Given the description of an element on the screen output the (x, y) to click on. 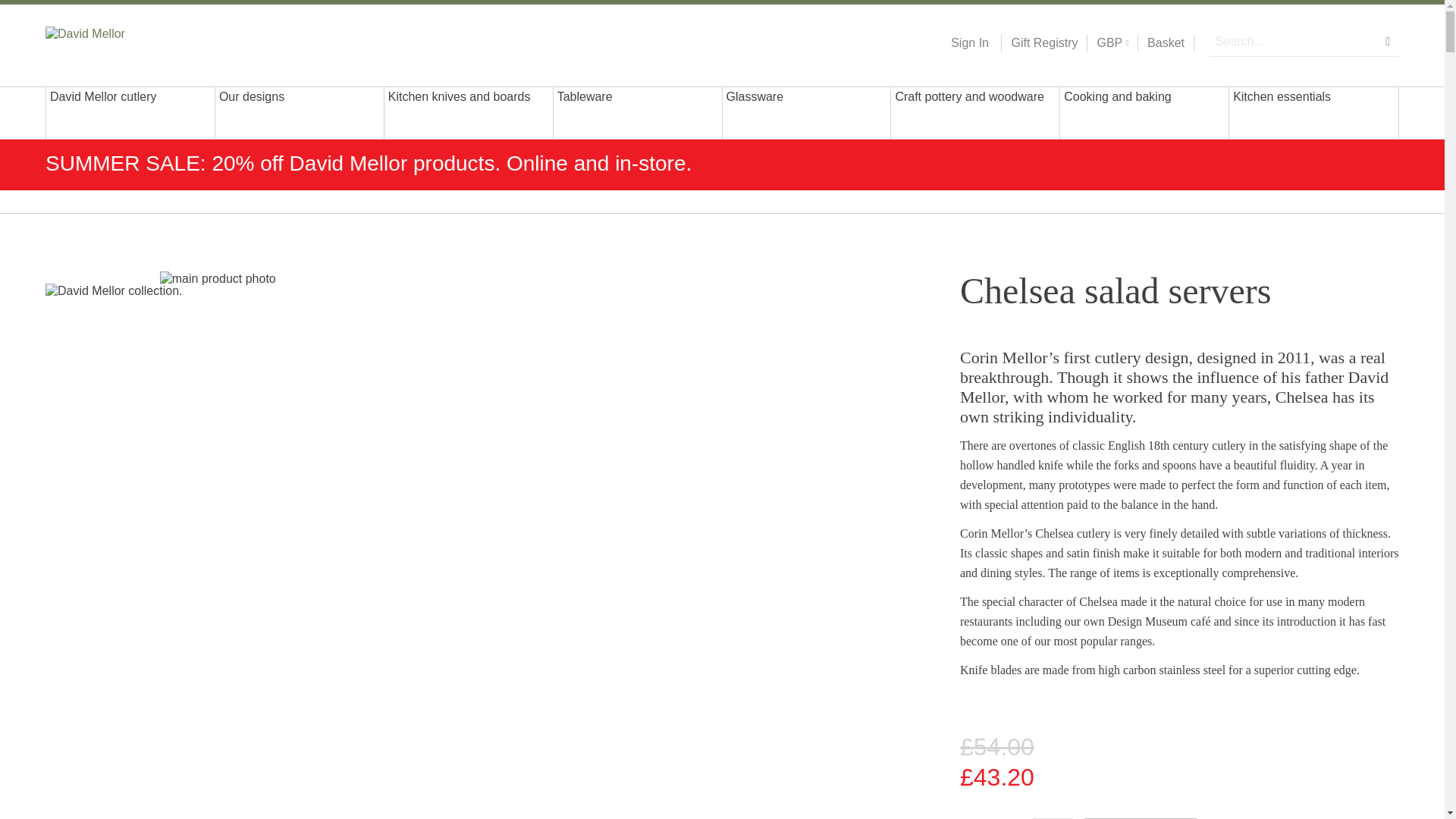
David Mellor cutlery (130, 112)
Gift Registry (1039, 43)
Basket (1166, 43)
Sign In (969, 43)
Search (1388, 41)
1 (1052, 818)
Search (1388, 41)
Qty (1052, 818)
David Mellor (143, 42)
